Given the description of an element on the screen output the (x, y) to click on. 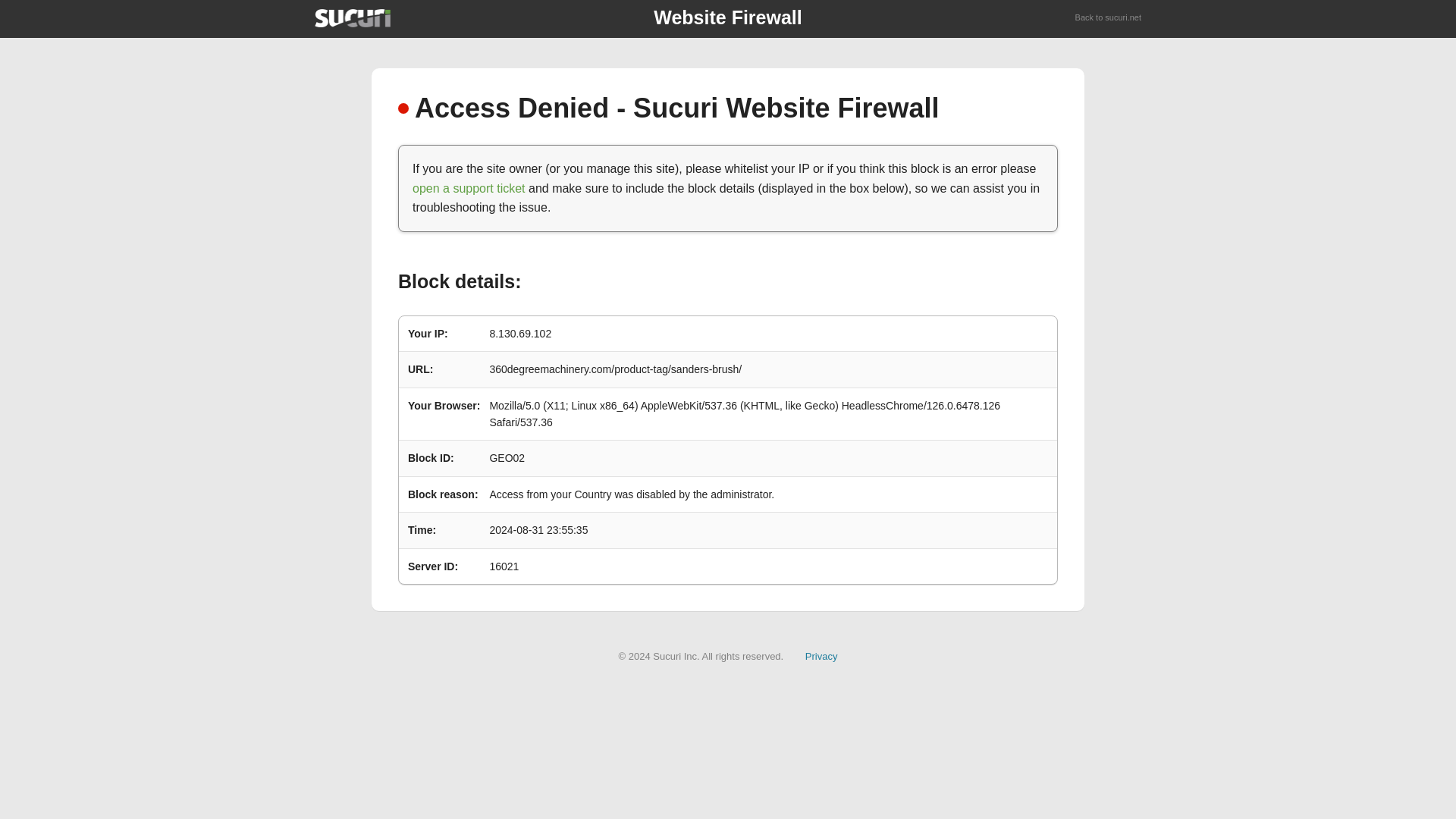
open a support ticket (468, 187)
Back to sucuri.net (1108, 18)
Privacy (821, 655)
